Given the description of an element on the screen output the (x, y) to click on. 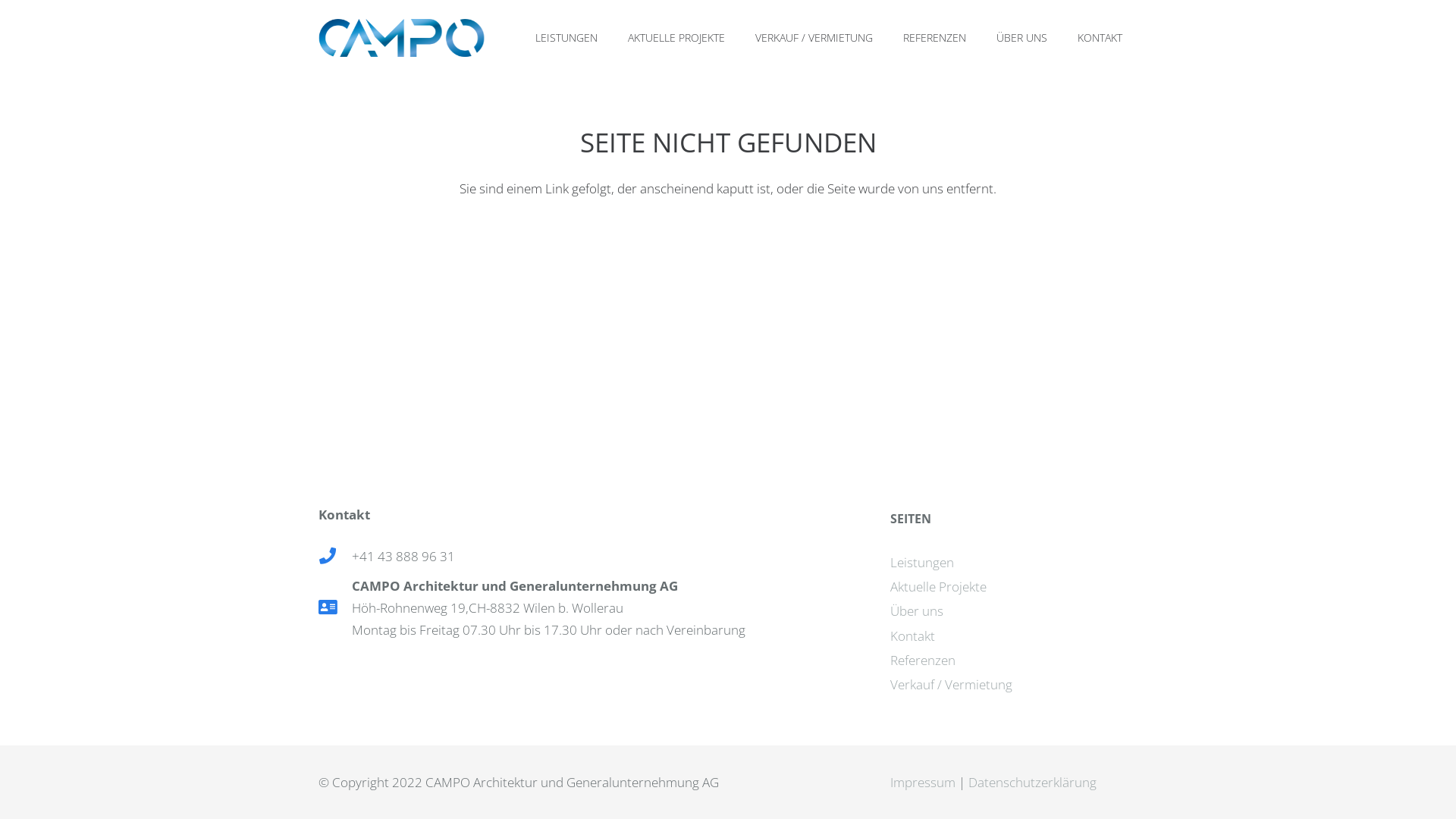
REFERENZEN Element type: text (934, 37)
VERKAUF / VERMIETUNG Element type: text (814, 37)
Verkauf / Vermietung Element type: text (951, 684)
Kontakt Element type: text (912, 635)
AKTUELLE PROJEKTE Element type: text (676, 37)
Referenzen Element type: text (922, 659)
LEISTUNGEN Element type: text (566, 37)
Aktuelle Projekte Element type: text (938, 586)
Leistungen Element type: text (921, 562)
KONTAKT Element type: text (1099, 37)
Impressum Element type: text (922, 781)
